Given the description of an element on the screen output the (x, y) to click on. 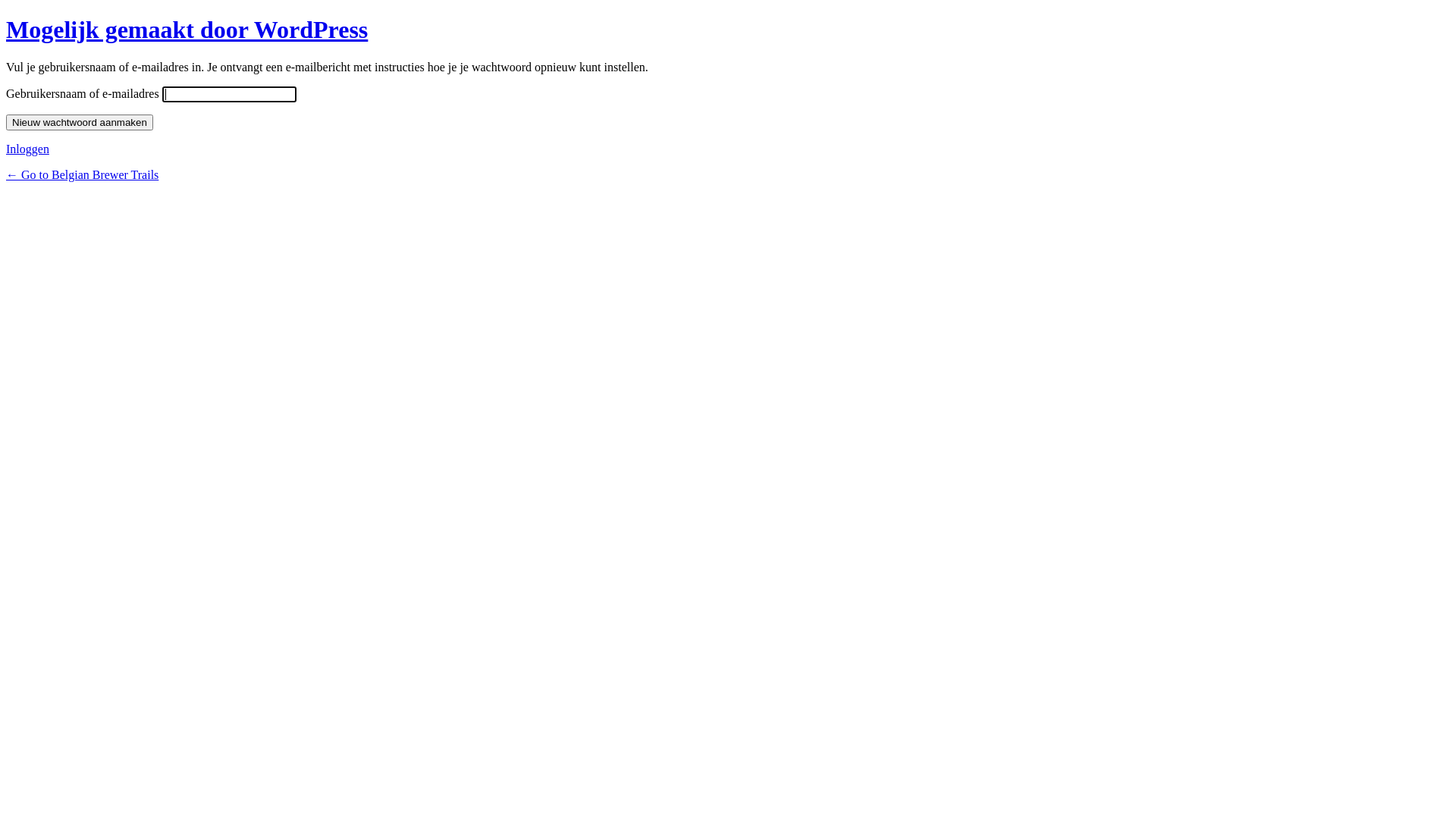
Nieuw wachtwoord aanmaken Element type: text (79, 122)
Inloggen Element type: text (27, 148)
Mogelijk gemaakt door WordPress Element type: text (186, 29)
